Given the description of an element on the screen output the (x, y) to click on. 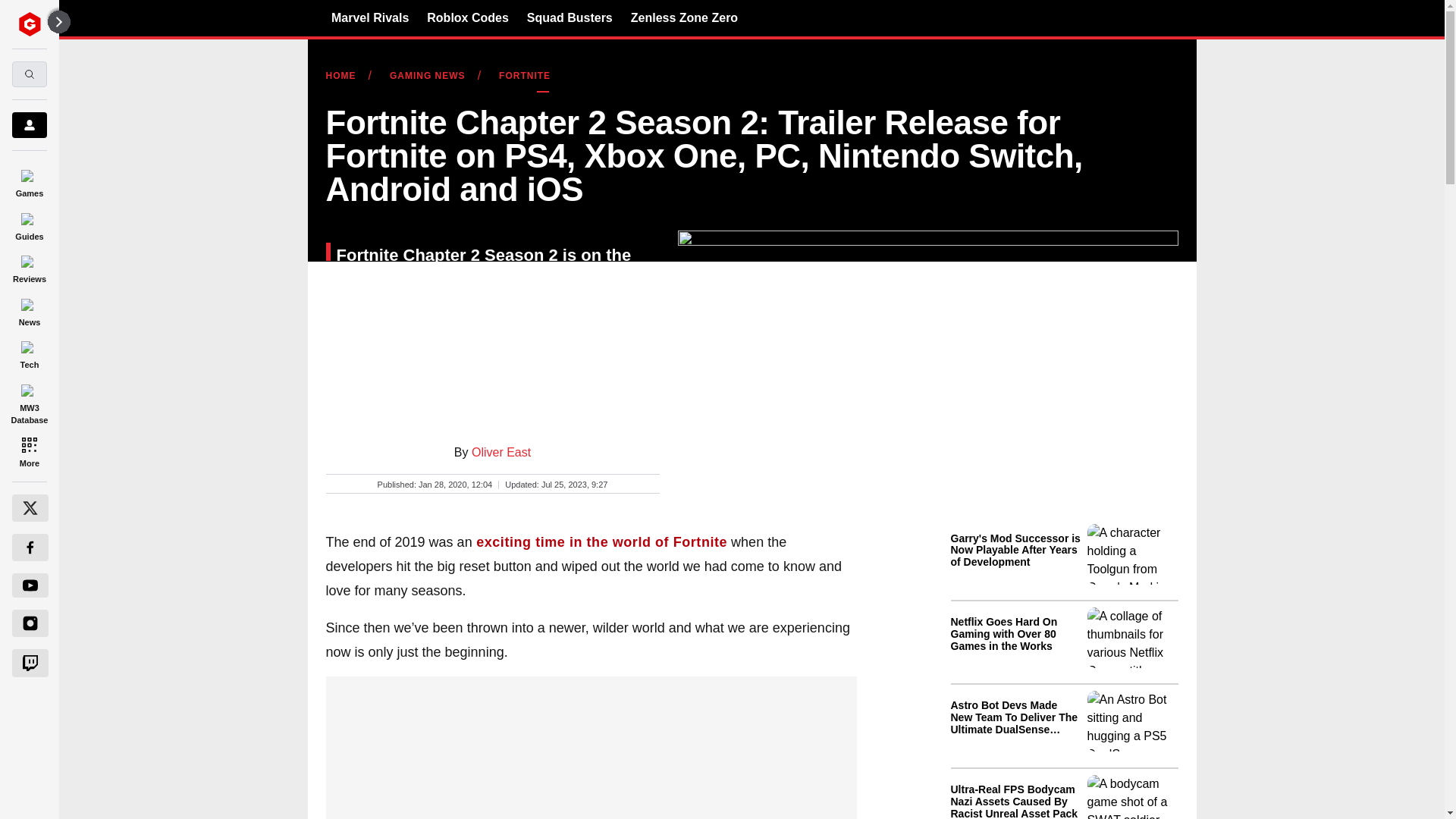
Reviews (28, 266)
Games (28, 180)
Squad Busters (569, 18)
Tech (28, 352)
News (28, 309)
Guides (28, 224)
More (28, 450)
Zenless Zone Zero (684, 18)
Roblox Codes (467, 18)
Marvel Rivals (370, 18)
